Given the description of an element on the screen output the (x, y) to click on. 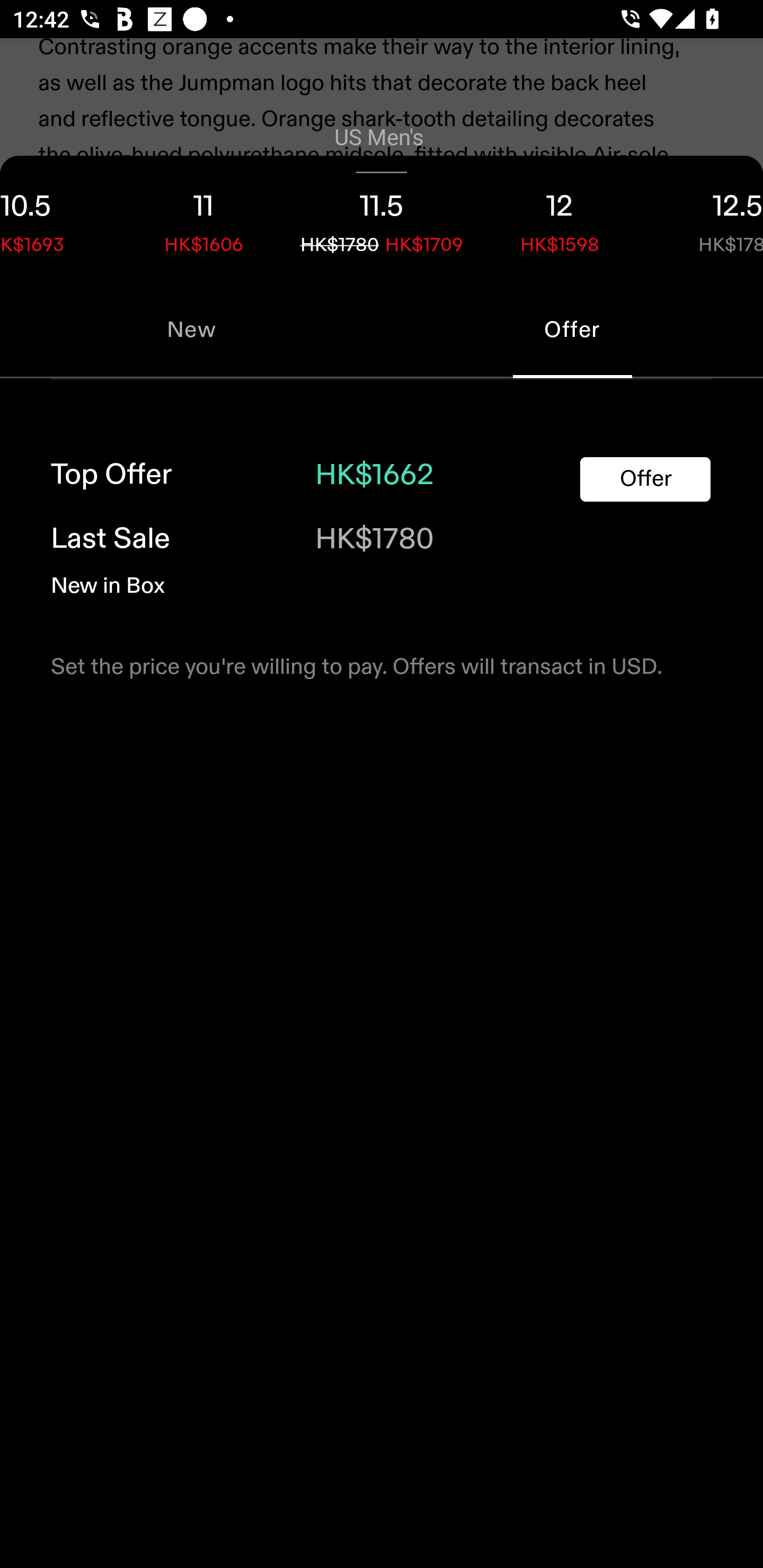
10.5 HK$1693 (57, 218)
11 HK$1606 (203, 218)
11.5 HK$1780 HK$1709 (381, 218)
12 HK$1598 (559, 218)
12.5 HK$1780 (705, 218)
New (190, 329)
Offer (644, 479)
